Given the description of an element on the screen output the (x, y) to click on. 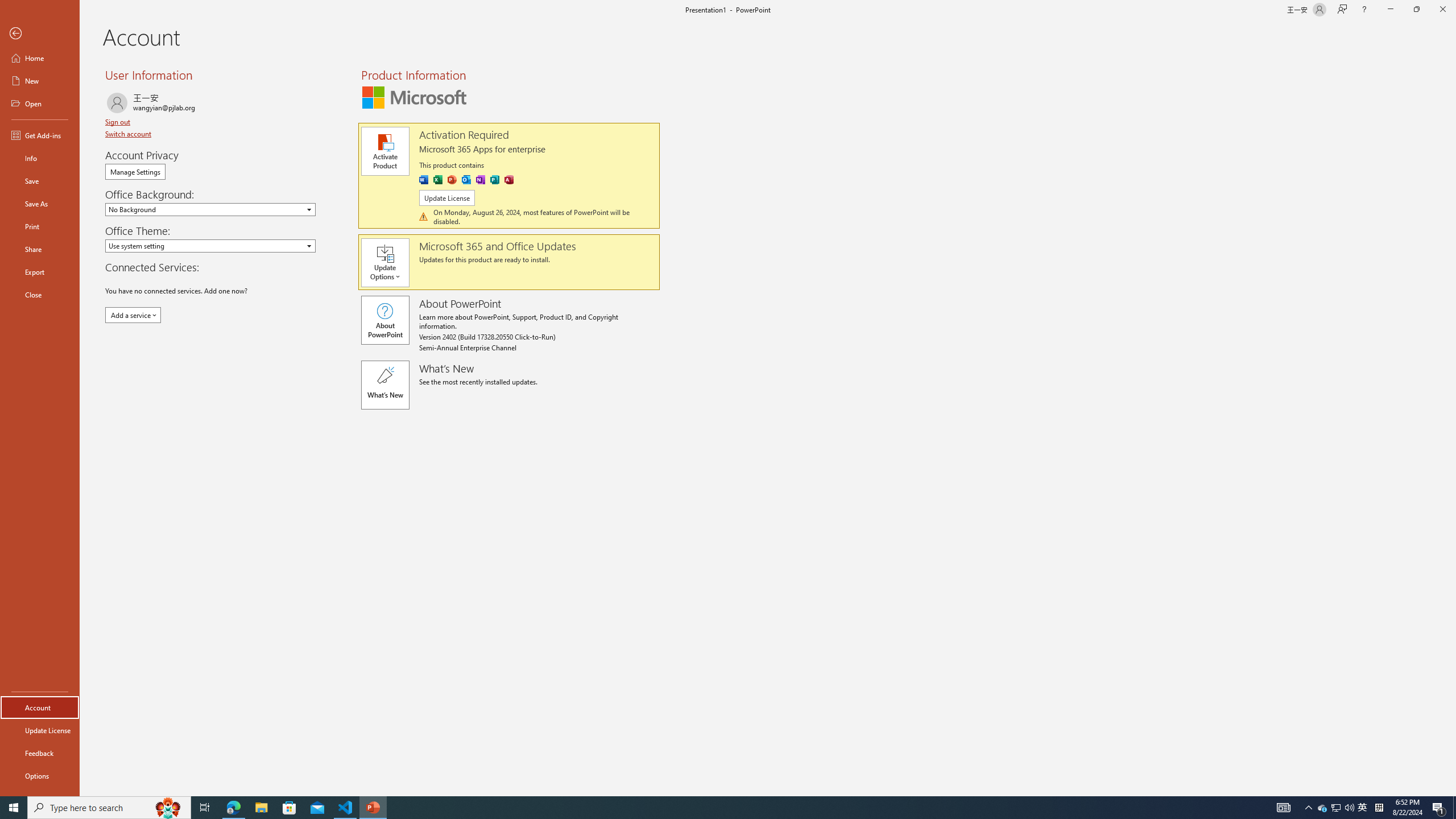
Back (40, 33)
Update License (40, 730)
Switch account (128, 133)
New (40, 80)
Export (40, 271)
Outlook (465, 179)
Feedback (40, 753)
Excel (437, 179)
Sign out (118, 121)
